Given the description of an element on the screen output the (x, y) to click on. 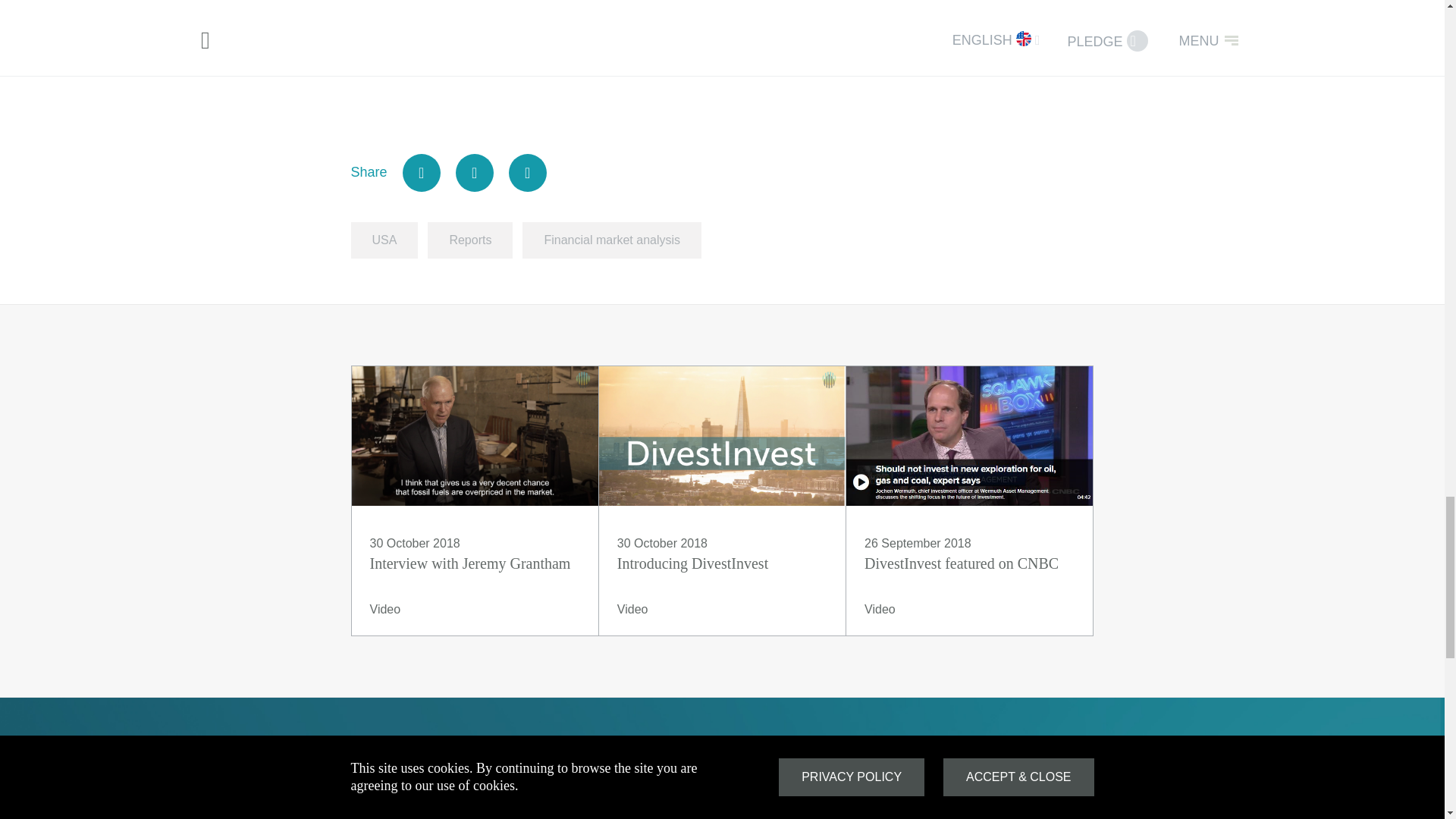
Share (475, 500)
